Given the description of an element on the screen output the (x, y) to click on. 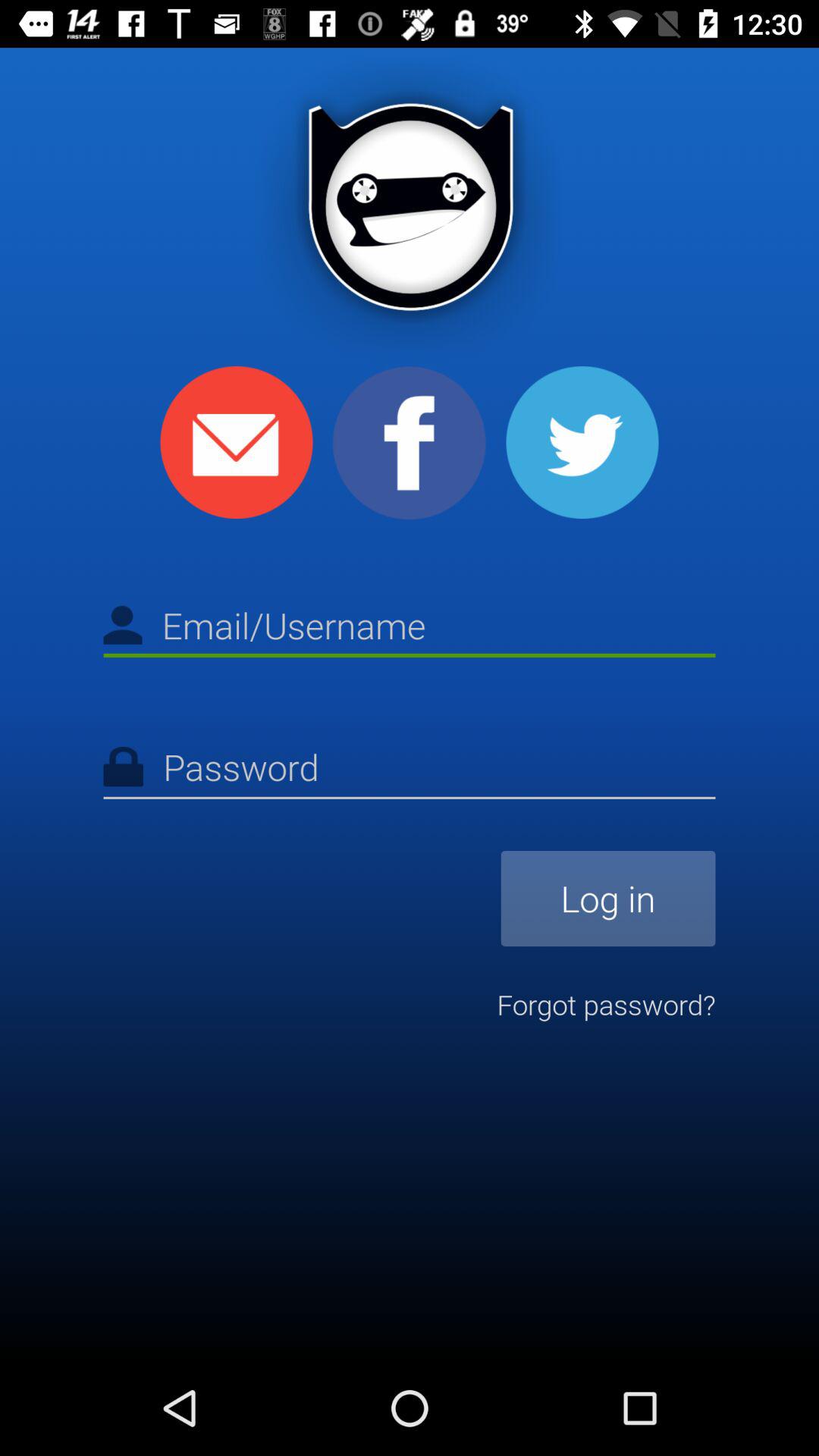
tap the icon on the right (608, 898)
